Given the description of an element on the screen output the (x, y) to click on. 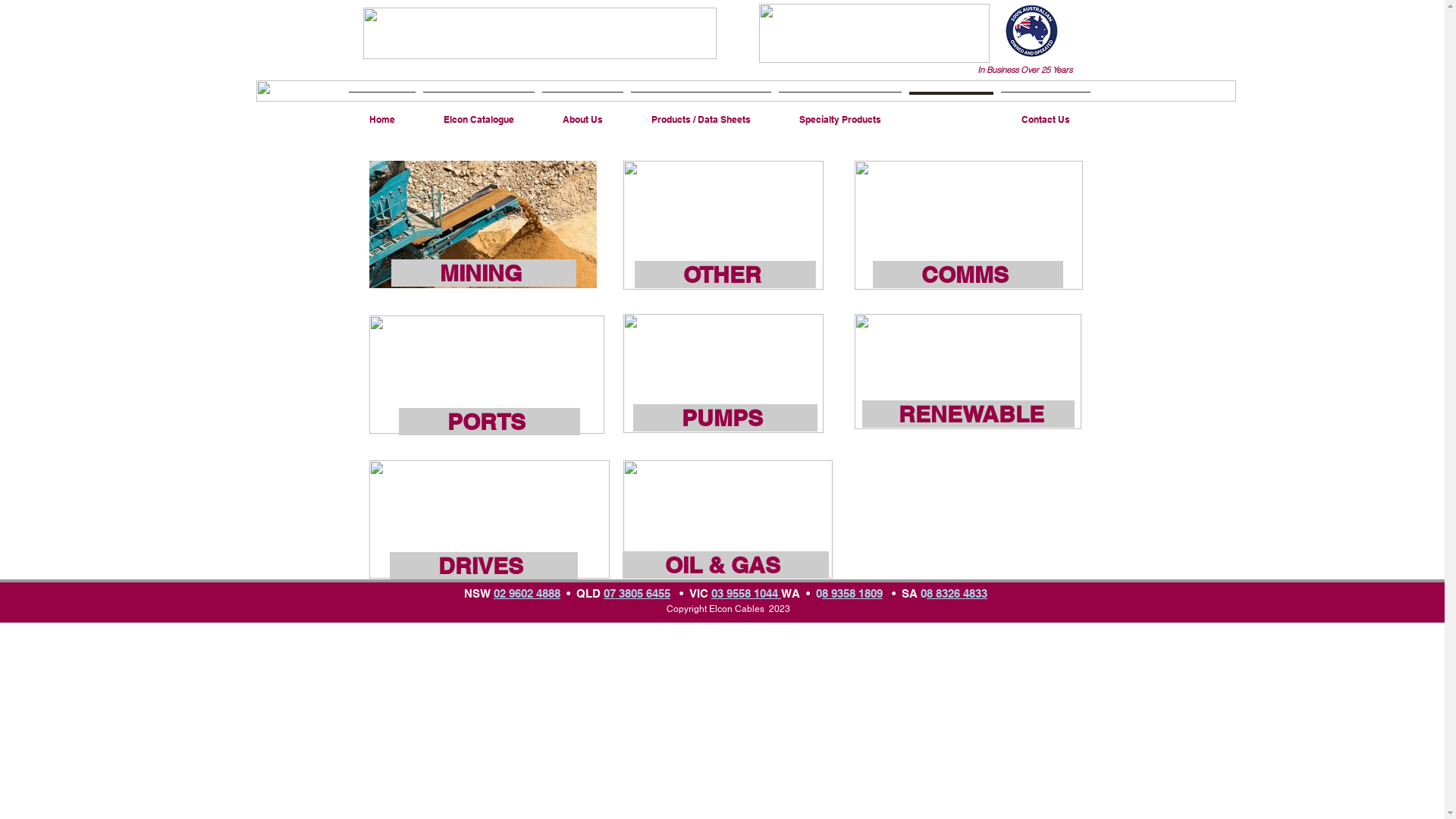
Products / Data Sheets Element type: text (700, 112)
8 9358 1809 Element type: text (852, 592)
02 9602 4888 Element type: text (526, 592)
BANNER.png Element type: hover (746, 90)
Specialty Products Element type: text (840, 112)
Elcon Catalogue Element type: text (477, 112)
About Us Element type: text (582, 112)
07 3805 6455 Element type: text (636, 592)
Contact Us Element type: text (1044, 112)
Industries Element type: text (951, 112)
03 9558 1044  Element type: text (746, 592)
Home Element type: text (381, 112)
Elcon Logo.png Element type: hover (538, 33)
8 8326 4833 Element type: text (956, 592)
